Given the description of an element on the screen output the (x, y) to click on. 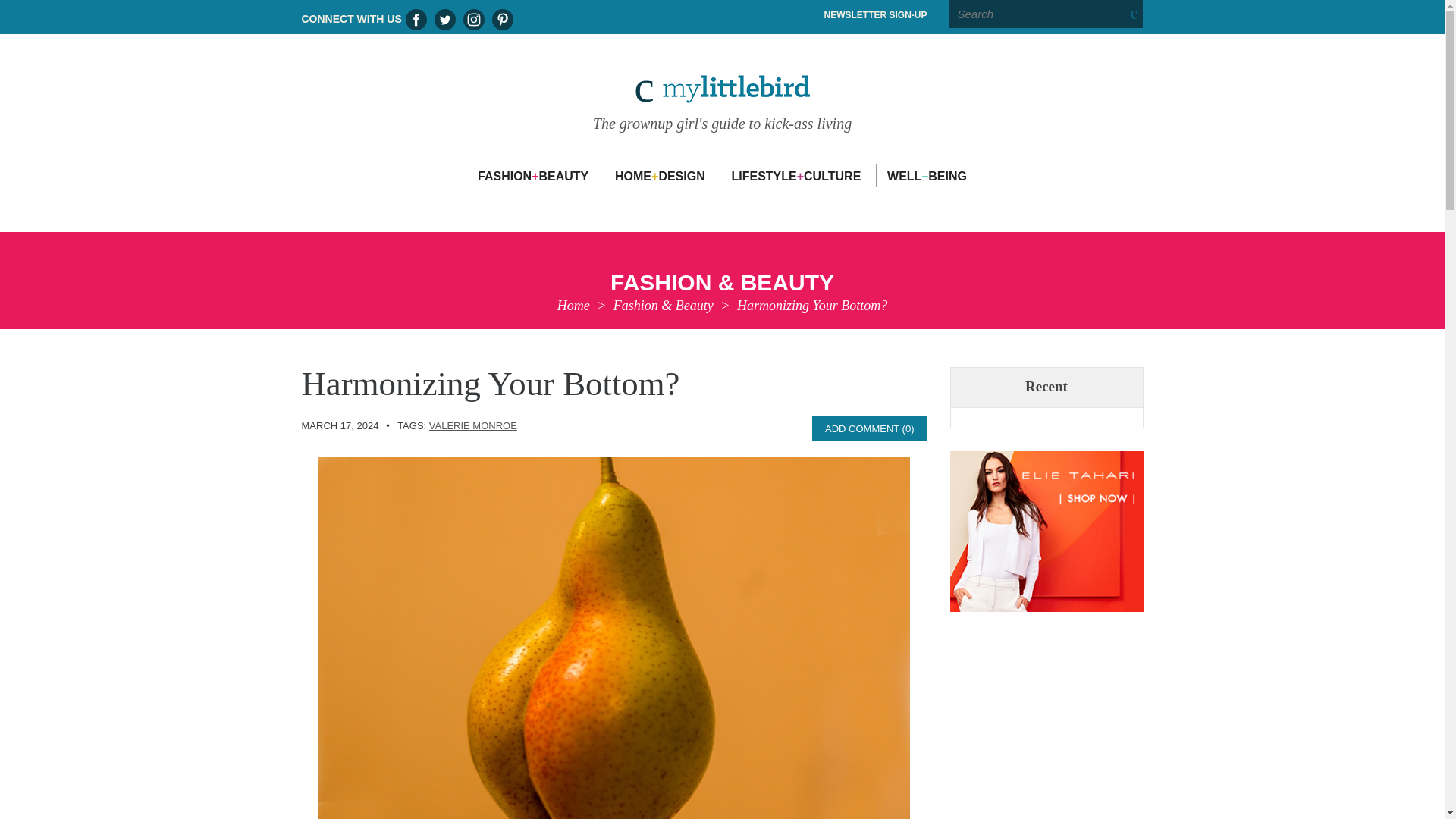
Search (1045, 13)
sale (1045, 531)
VALERIE MONROE (472, 425)
Recent (1046, 387)
Home (573, 305)
The grownup girl's guide to kick-ass living (721, 96)
NEWSLETTER SIGN-UP (875, 14)
